Given the description of an element on the screen output the (x, y) to click on. 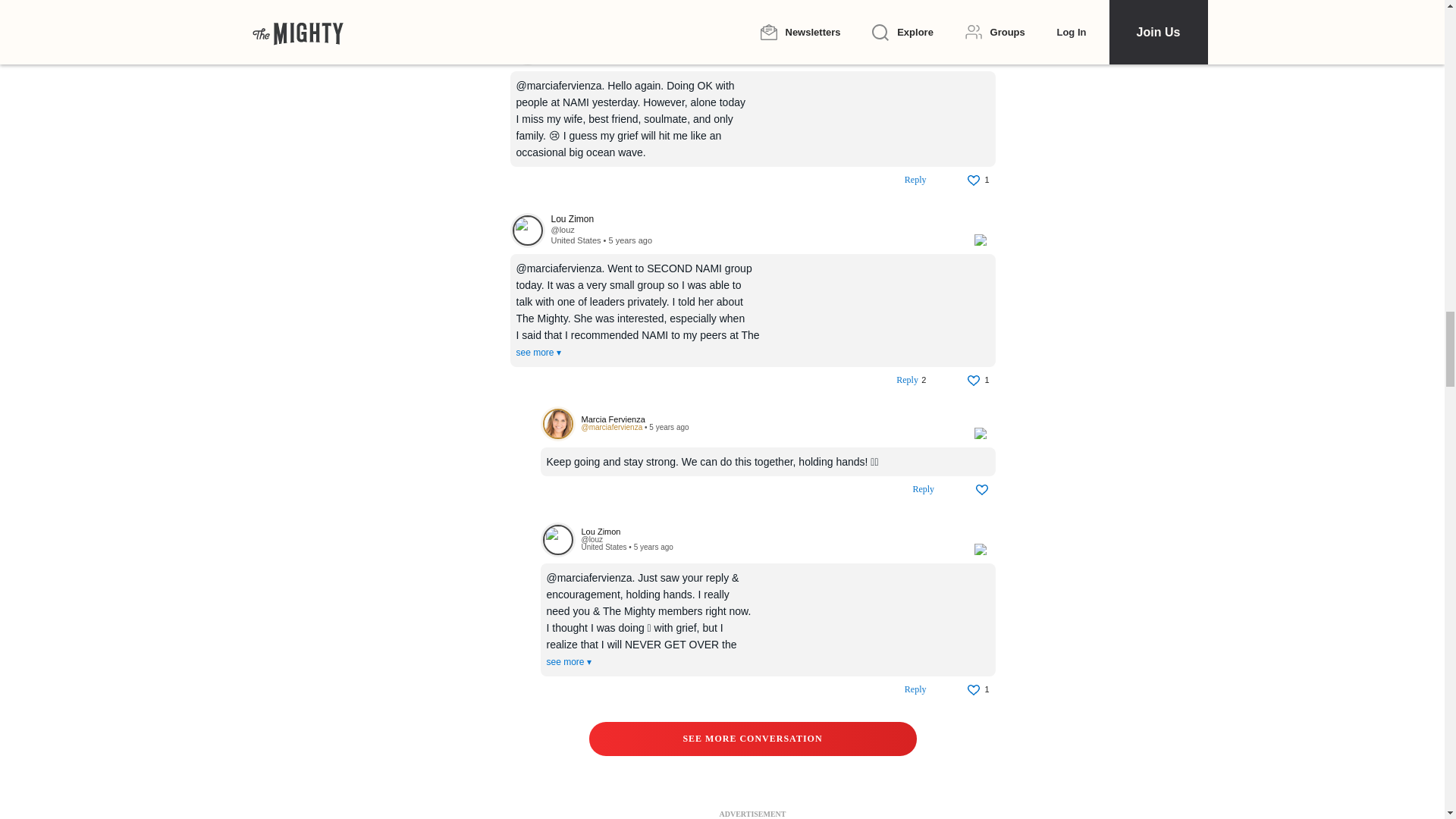
View their profile (769, 419)
Show more of this comment (537, 352)
View their profile (557, 423)
View their profile (754, 36)
View their profile (754, 219)
View their profile (561, 46)
View their profile (561, 229)
View their profile (526, 47)
View their profile (526, 230)
